Given the description of an element on the screen output the (x, y) to click on. 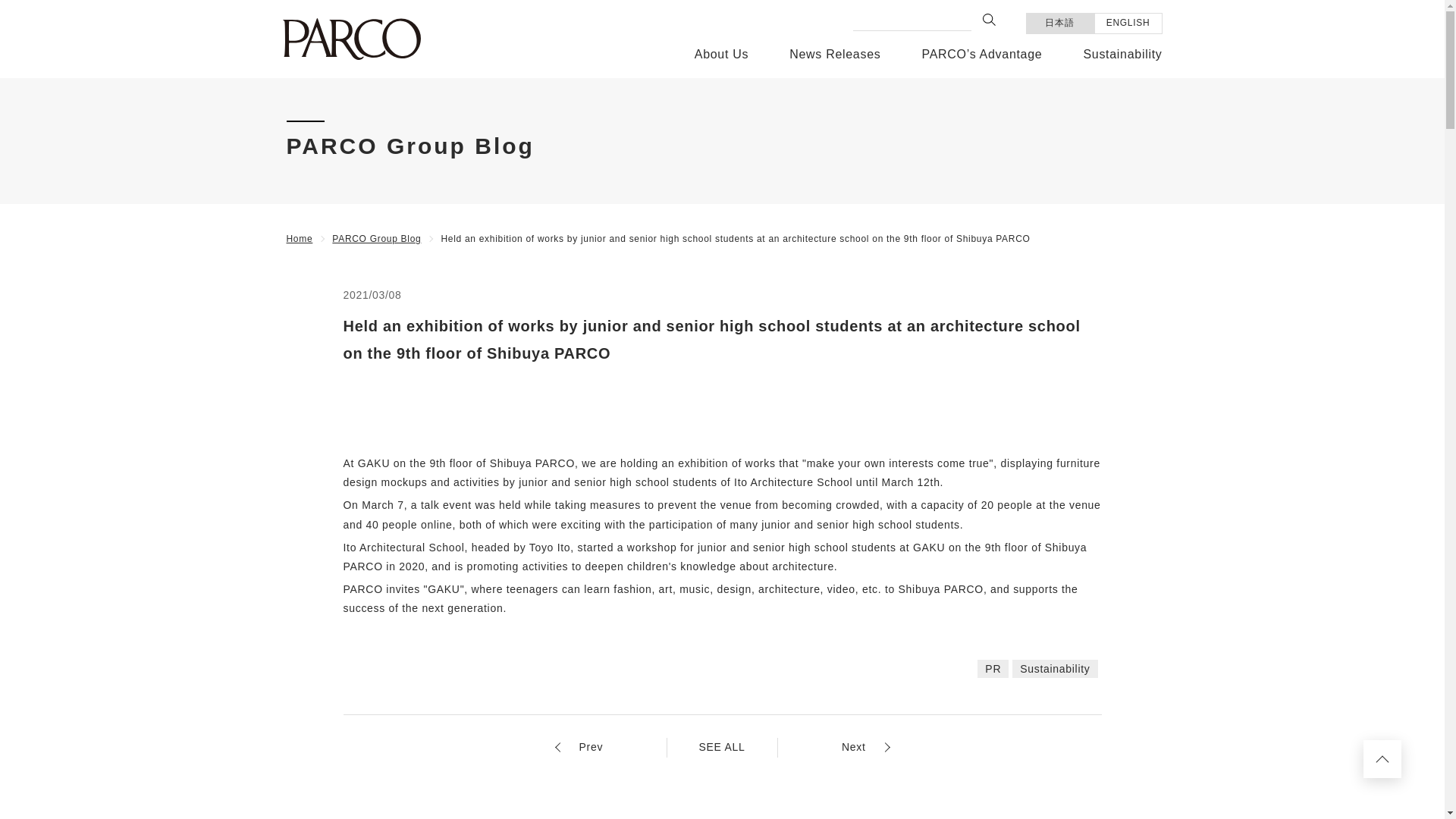
About Us (721, 61)
ENGLISH (1127, 23)
